Given the description of an element on the screen output the (x, y) to click on. 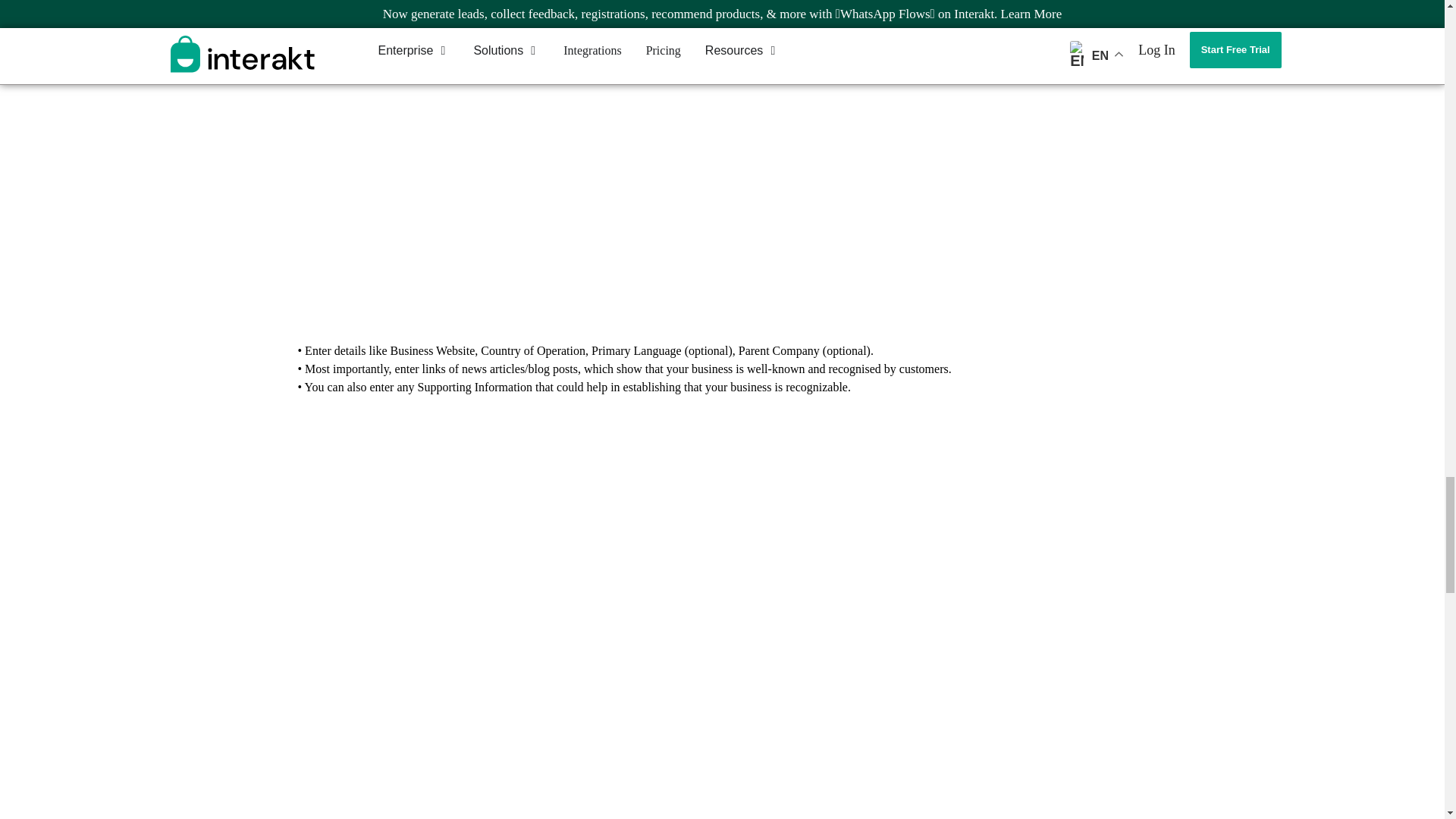
All about Green Tick 10 (721, 535)
All about Green Tick 11 (721, 746)
All about Green Tick 9 (721, 191)
All about Green Tick 8 (721, 3)
